Given the description of an element on the screen output the (x, y) to click on. 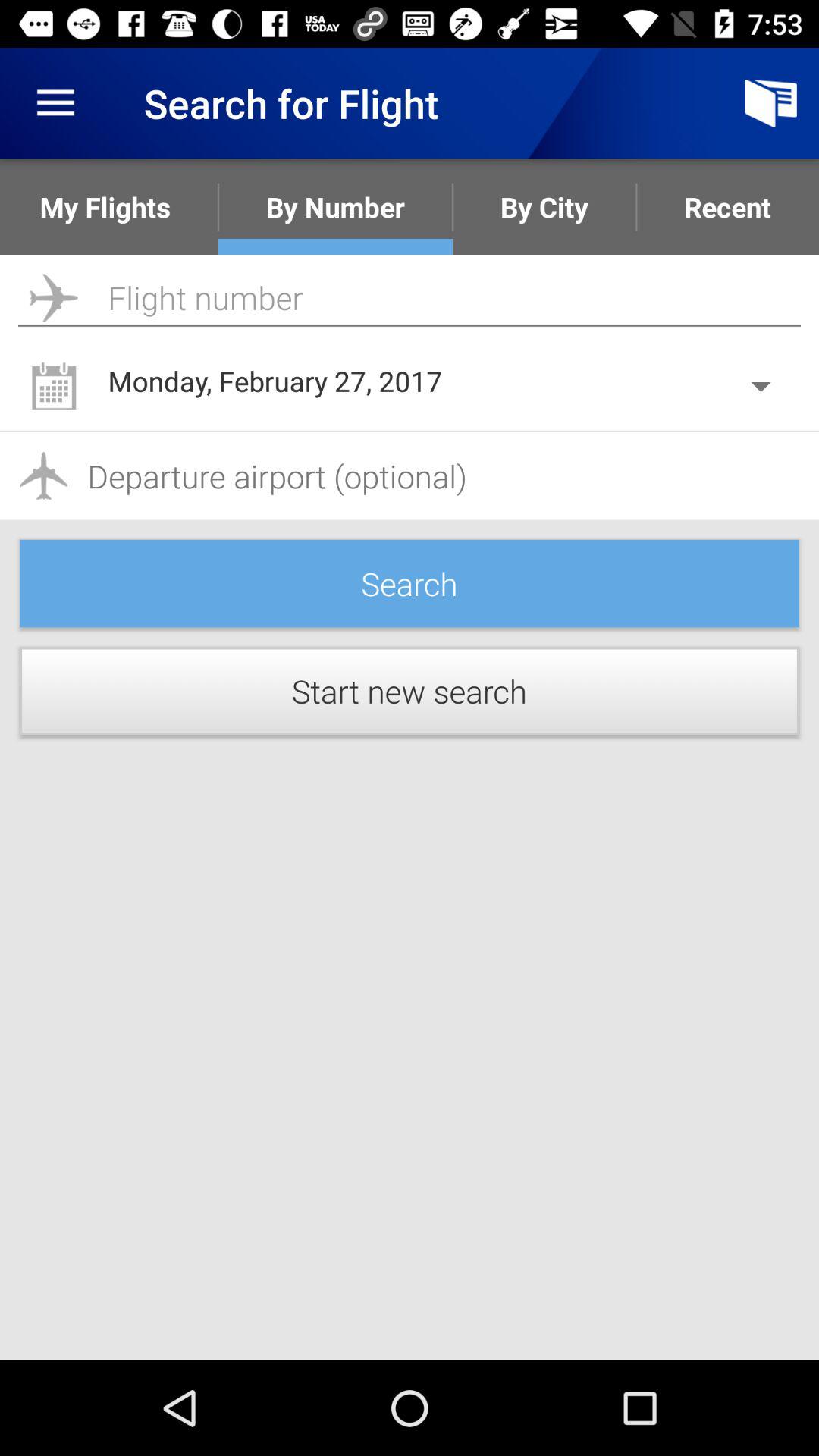
optional departure airport (409, 475)
